Given the description of an element on the screen output the (x, y) to click on. 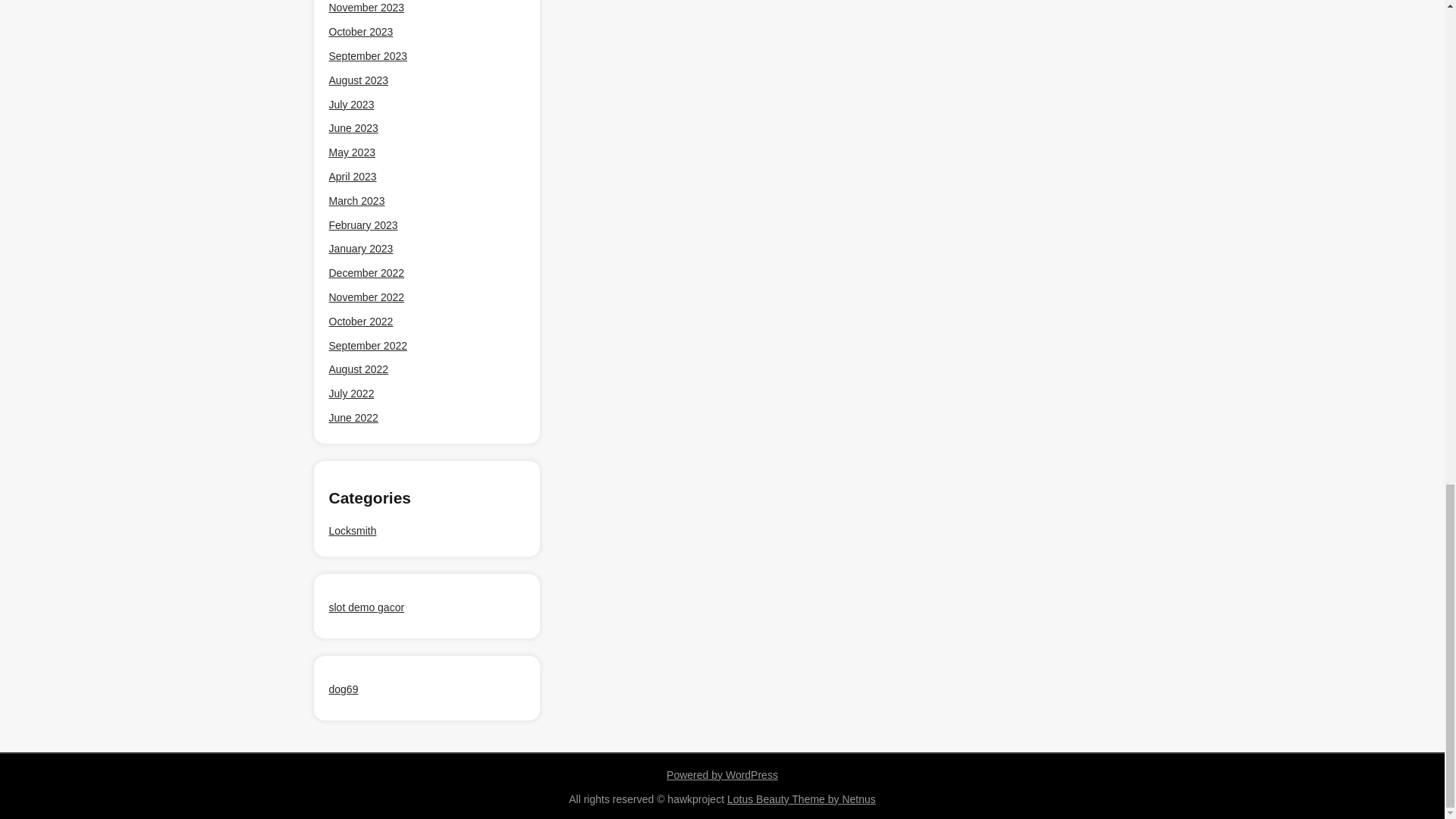
May 2023 (352, 152)
October 2023 (361, 31)
Netnus - Lotus Beauty (801, 799)
December 2022 (366, 273)
November 2023 (366, 7)
August 2023 (358, 80)
March 2023 (357, 201)
September 2023 (368, 56)
January 2023 (361, 248)
April 2023 (353, 176)
February 2023 (363, 225)
July 2023 (351, 104)
June 2023 (353, 128)
